Given the description of an element on the screen output the (x, y) to click on. 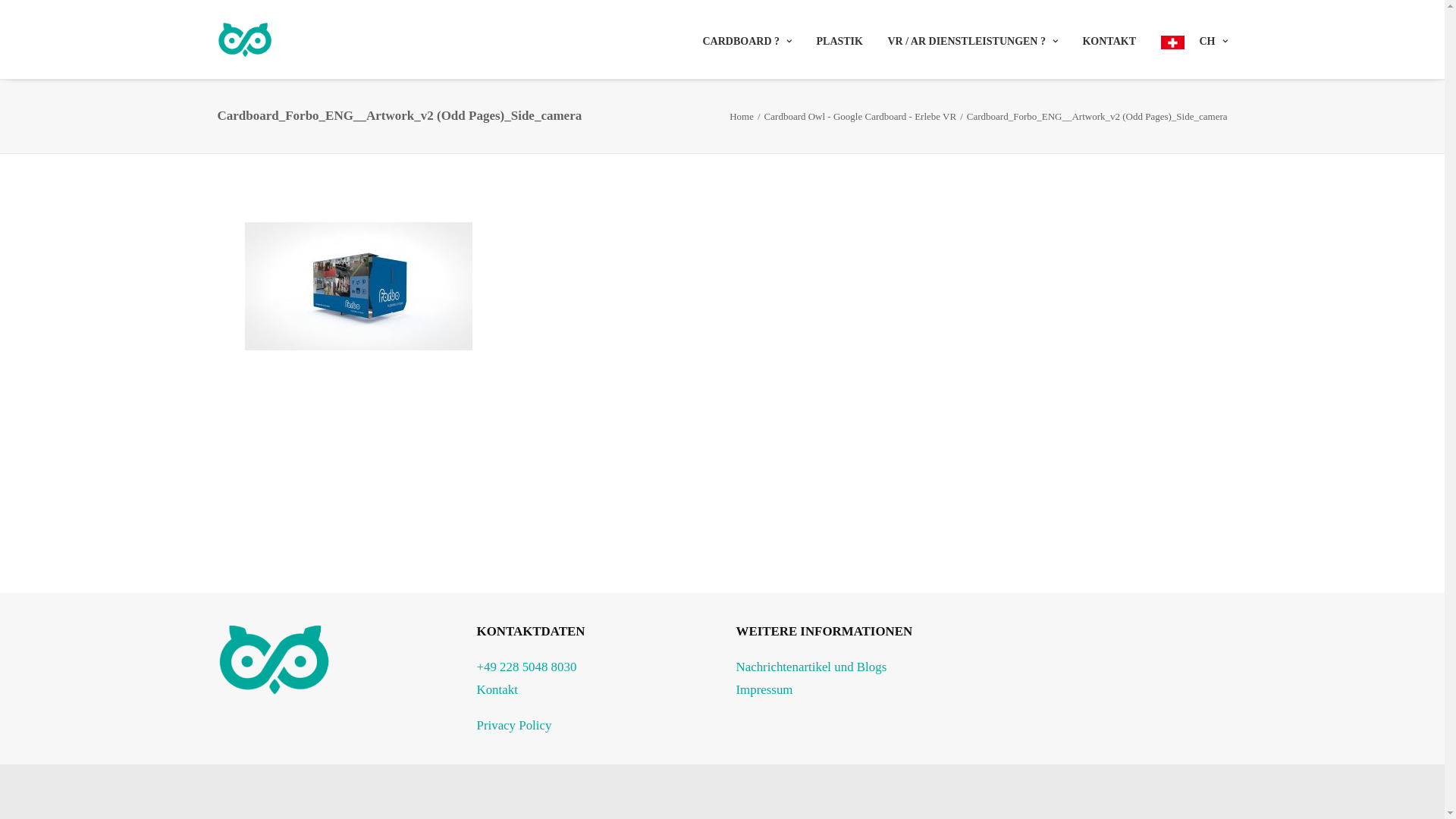
Home Element type: text (741, 116)
CARDBOARD ? Element type: text (752, 39)
PLASTIK Element type: text (838, 39)
Privacy Policy Element type: text (513, 725)
Impressum Element type: text (763, 689)
+49 228 5048 8030 Element type: text (526, 666)
Kontakt Element type: text (496, 689)
Nachrichtenartikel und Blogs Element type: text (810, 666)
CH Element type: text (1187, 39)
Cardboard Owl - Google Cardboard - Erlebe VR Element type: text (860, 116)
VR / AR DIENSTLEISTUNGEN ? Element type: text (972, 39)
KONTAKT Element type: text (1108, 39)
